Given the description of an element on the screen output the (x, y) to click on. 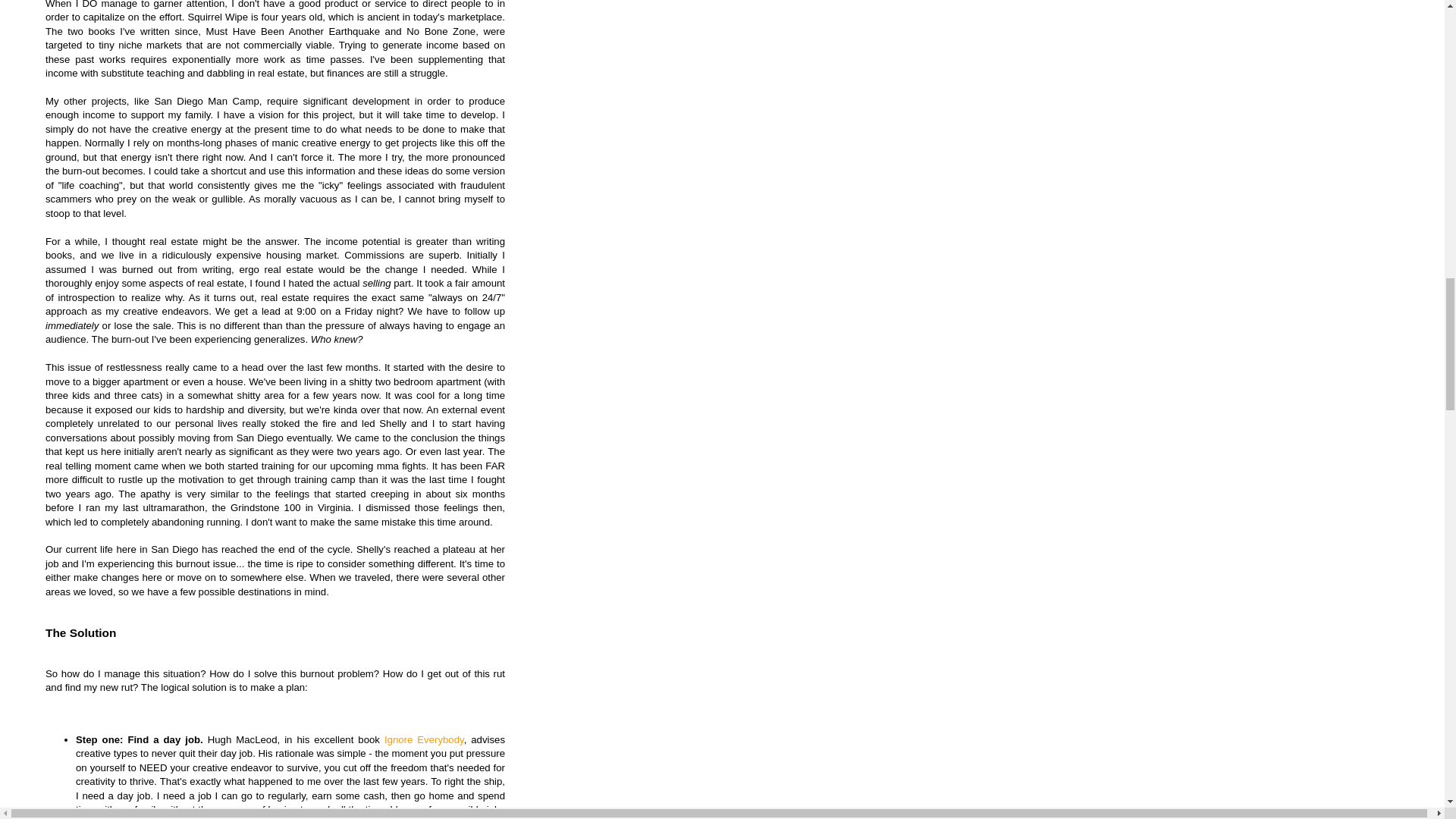
Ignore Everybody (424, 739)
